Given the description of an element on the screen output the (x, y) to click on. 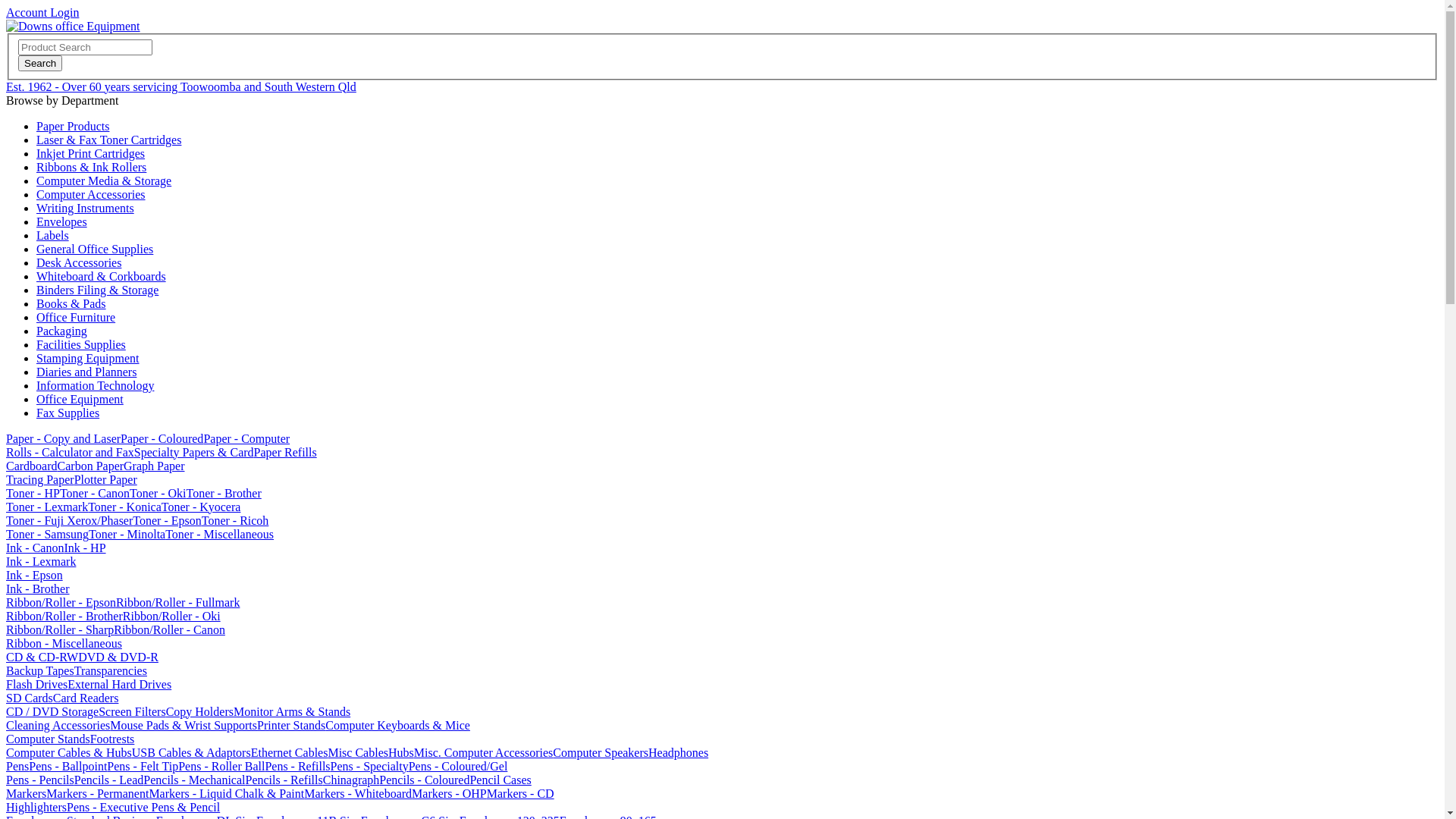
Toner - Konica Element type: text (124, 506)
Toner - Epson Element type: text (166, 520)
Account Login Element type: text (42, 12)
CD / DVD Storage Element type: text (52, 711)
Computer Media & Storage Element type: text (103, 180)
Mouse Pads & Wrist Supports Element type: text (183, 724)
Pencil Cases Element type: text (499, 779)
Carbon Paper Element type: text (90, 465)
Computer Speakers Element type: text (600, 752)
Whiteboard & Corkboards Element type: text (101, 275)
Ribbon/Roller - Sharp Element type: text (59, 629)
Misc Cables Element type: text (357, 752)
Card Readers Element type: text (86, 697)
Ribbon/Roller - Canon Element type: text (169, 629)
Pencils - Mechanical Element type: text (193, 779)
Ethernet Cables Element type: text (289, 752)
External Hard Drives Element type: text (119, 683)
Toner - Brother Element type: text (222, 492)
Paper - Coloured Element type: text (161, 438)
Printer Stands Element type: text (291, 724)
Pens - Ballpoint Element type: text (67, 765)
Hubs Element type: text (401, 752)
Stamping Equipment Element type: text (87, 357)
Ribbons & Ink Rollers Element type: text (91, 166)
Ink - Canon Element type: text (34, 547)
Toner - Kyocera Element type: text (201, 506)
DVD & DVD-R Element type: text (118, 656)
Computer Cables & Hubs Element type: text (68, 752)
Facilities Supplies Element type: text (80, 344)
Ribbon/Roller - Fullmark Element type: text (178, 602)
Footrests Element type: text (112, 738)
Diaries and Planners Element type: text (86, 371)
Ribbon - Miscellaneous Element type: text (64, 643)
Toner - Samsung Element type: text (47, 533)
Toner - Fuji Xerox/Phaser Element type: text (69, 520)
Fax Supplies Element type: text (67, 412)
Ribbon/Roller - Brother Element type: text (64, 615)
Markers - CD Element type: text (520, 793)
Paper Products Element type: text (72, 125)
Markers - OHP Element type: text (448, 793)
Pens - Coloured/Gel Element type: text (458, 765)
Computer Accessories Element type: text (90, 194)
USB Cables & Adaptors Element type: text (191, 752)
Ribbon/Roller - Epson Element type: text (61, 602)
Ink - Brother Element type: text (37, 588)
Writing Instruments Element type: text (85, 207)
Search Element type: text (40, 63)
Markers - Liquid Chalk & Paint Element type: text (226, 793)
Markers Element type: text (26, 793)
Pens - Pencils Element type: text (40, 779)
Packaging Element type: text (61, 330)
Backup Tapes Element type: text (40, 670)
Pens - Specialty Element type: text (369, 765)
Chinagraph Element type: text (351, 779)
Computer Stands Element type: text (48, 738)
Screen Filters Element type: text (131, 711)
Laser & Fax Toner Cartridges Element type: text (108, 139)
Cardboard Element type: text (31, 465)
Pens Element type: text (17, 765)
Toner - Miscellaneous Element type: text (219, 533)
Computer Keyboards & Mice Element type: text (397, 724)
Tracing Paper Element type: text (40, 479)
Graph Paper Element type: text (153, 465)
Office Furniture Element type: text (75, 316)
Labels Element type: text (52, 235)
Pens - Roller Ball Element type: text (221, 765)
Highlighters Element type: text (36, 806)
Envelopes Element type: text (61, 221)
Paper Refills Element type: text (285, 451)
Specialty Papers & Card Element type: text (194, 451)
Flash Drives Element type: text (36, 683)
Pens - Executive Pens & Pencil Element type: text (142, 806)
Pencils - Refills Element type: text (283, 779)
Pencils - Coloured Element type: text (424, 779)
Copy Holders Element type: text (199, 711)
Office Equipment Element type: text (79, 398)
Pens - Felt Tip Element type: text (142, 765)
Information Technology Element type: text (94, 385)
General Office Supplies Element type: text (94, 248)
CD & CD-RW Element type: text (42, 656)
Rolls - Calculator and Fax Element type: text (70, 451)
Headphones Element type: text (678, 752)
Books & Pads Element type: text (71, 303)
Misc. Computer Accessories Element type: text (483, 752)
Transparencies Element type: text (110, 670)
Paper - Computer Element type: text (246, 438)
Pencils - Lead Element type: text (109, 779)
Desk Accessories Element type: text (78, 262)
Markers - Permanent Element type: text (97, 793)
Toner - HP Element type: text (32, 492)
Plotter Paper Element type: text (105, 479)
Toner - Lexmark Element type: text (46, 506)
Pens - Refills Element type: text (296, 765)
Ink - Epson Element type: text (34, 574)
Paper - Copy and Laser Element type: text (63, 438)
Inkjet Print Cartridges Element type: text (90, 153)
Monitor Arms & Stands Element type: text (291, 711)
Toner - Oki Element type: text (157, 492)
Cleaning Accessories Element type: text (57, 724)
Binders Filing & Storage Element type: text (97, 289)
Markers - Whiteboard Element type: text (357, 793)
Ink - Lexmark Element type: text (40, 561)
Ribbon/Roller - Oki Element type: text (171, 615)
SD Cards Element type: text (29, 697)
Toner - Minolta Element type: text (126, 533)
Toner - Canon Element type: text (94, 492)
Toner - Ricoh Element type: text (235, 520)
Ink - HP Element type: text (84, 547)
